Given the description of an element on the screen output the (x, y) to click on. 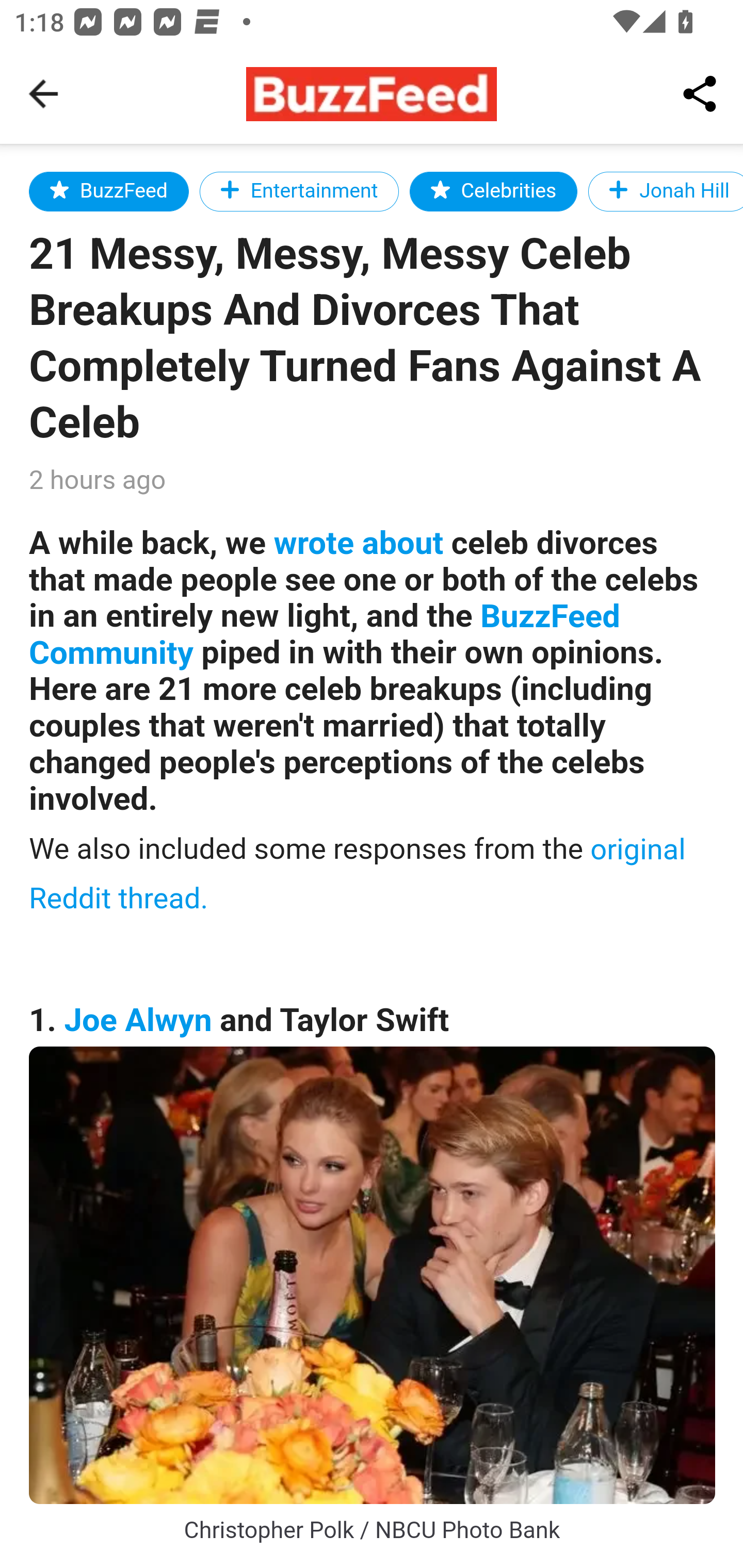
BuzzFeed (108, 191)
Entertainment (299, 191)
Celebrities (492, 191)
Jonah Hill (664, 191)
wrote about (358, 542)
BuzzFeed Community (324, 635)
original Reddit thread. (357, 872)
Joe Alwyn (138, 1020)
